Given the description of an element on the screen output the (x, y) to click on. 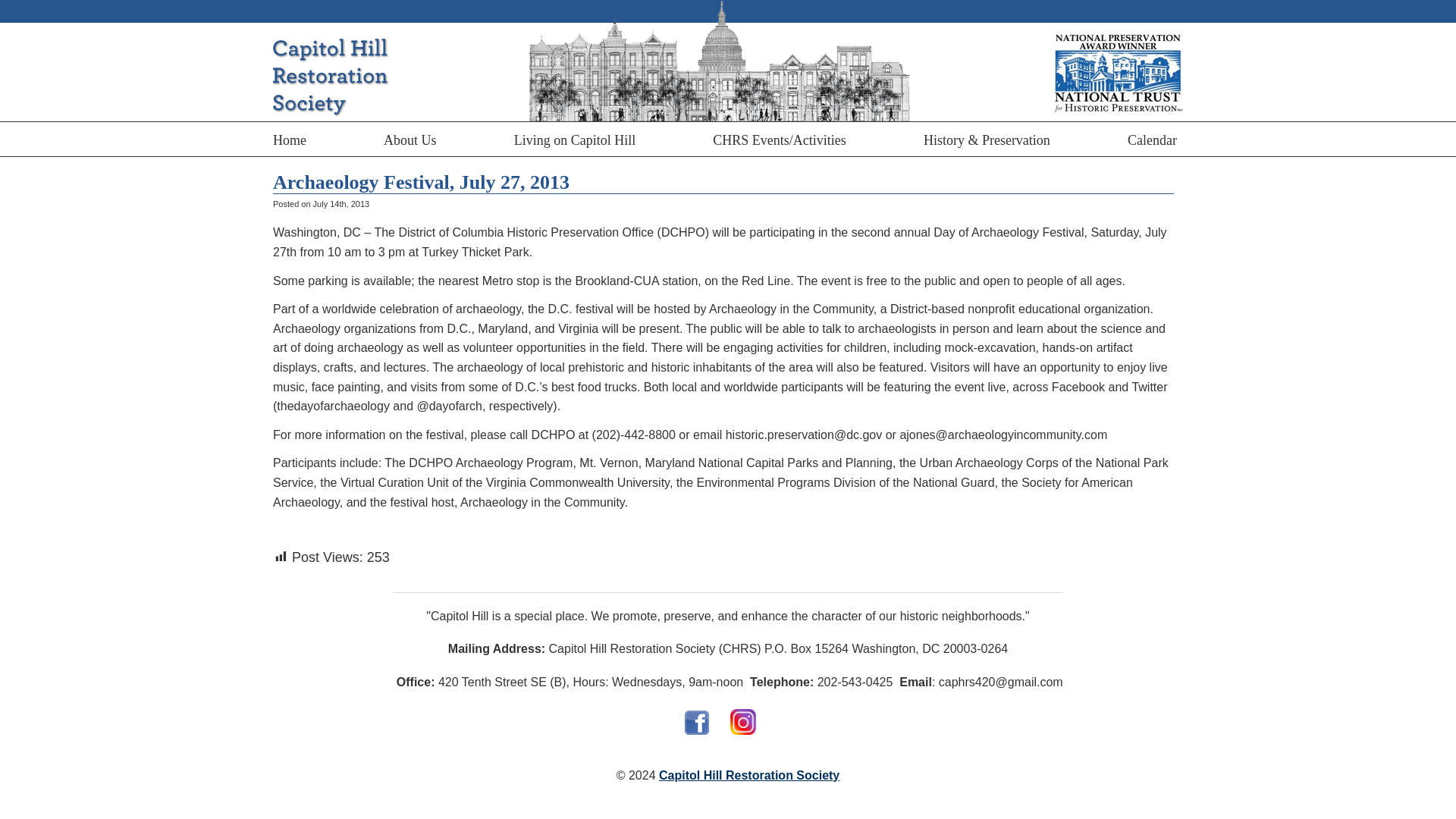
Permanent Link to Archaeology Festival, July 27, 2013 (421, 182)
Living on Capitol Hill (575, 139)
Capitol Hill Restoration Society (749, 775)
About Us (409, 139)
Home (293, 139)
